Given the description of an element on the screen output the (x, y) to click on. 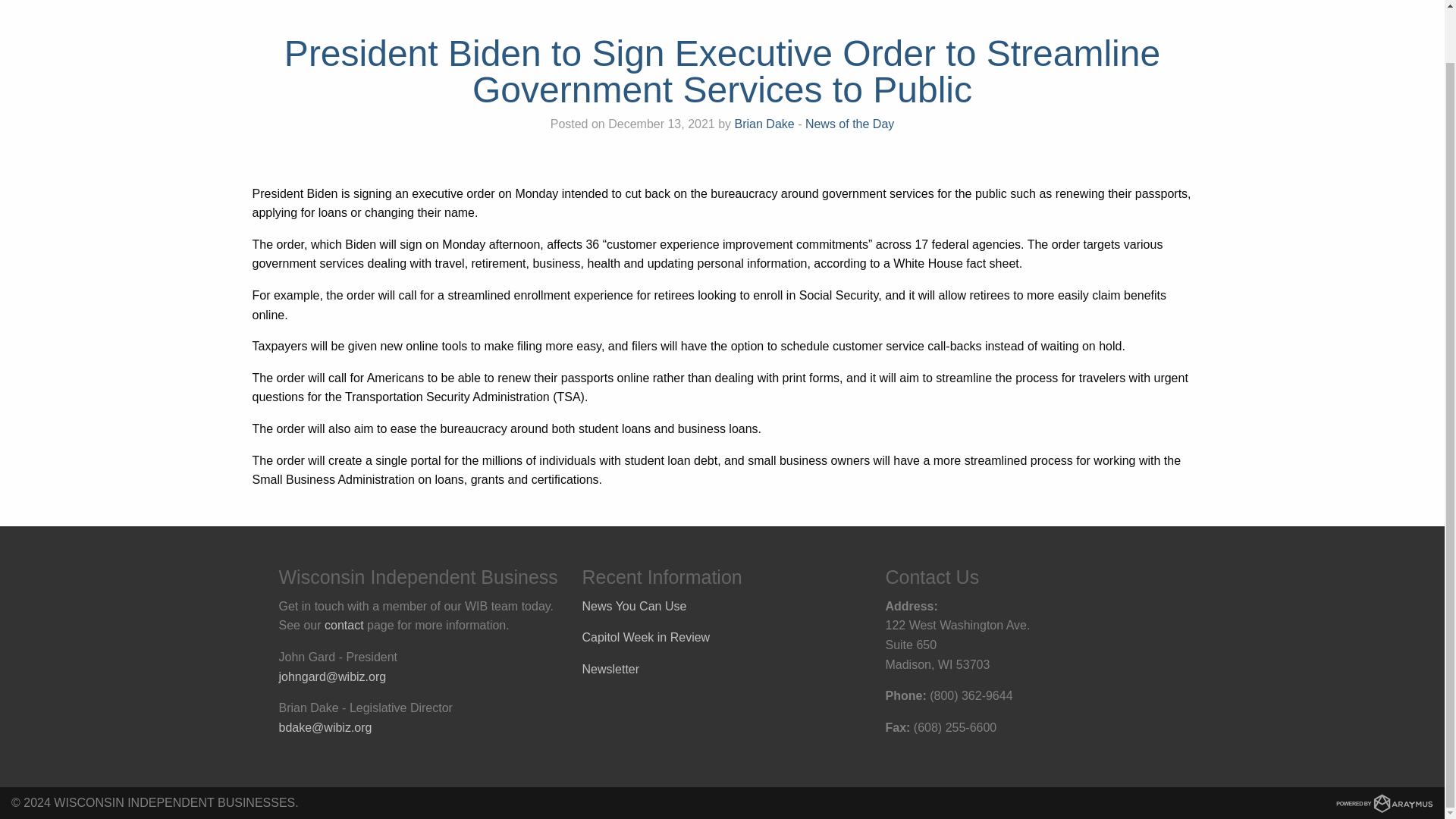
News You Can Use (634, 605)
News of the Day (849, 123)
Newsletter (611, 668)
Capitol Week in Review (646, 636)
contact (344, 625)
Posts by Brian Dake (764, 123)
Brian Dake (764, 123)
